Given the description of an element on the screen output the (x, y) to click on. 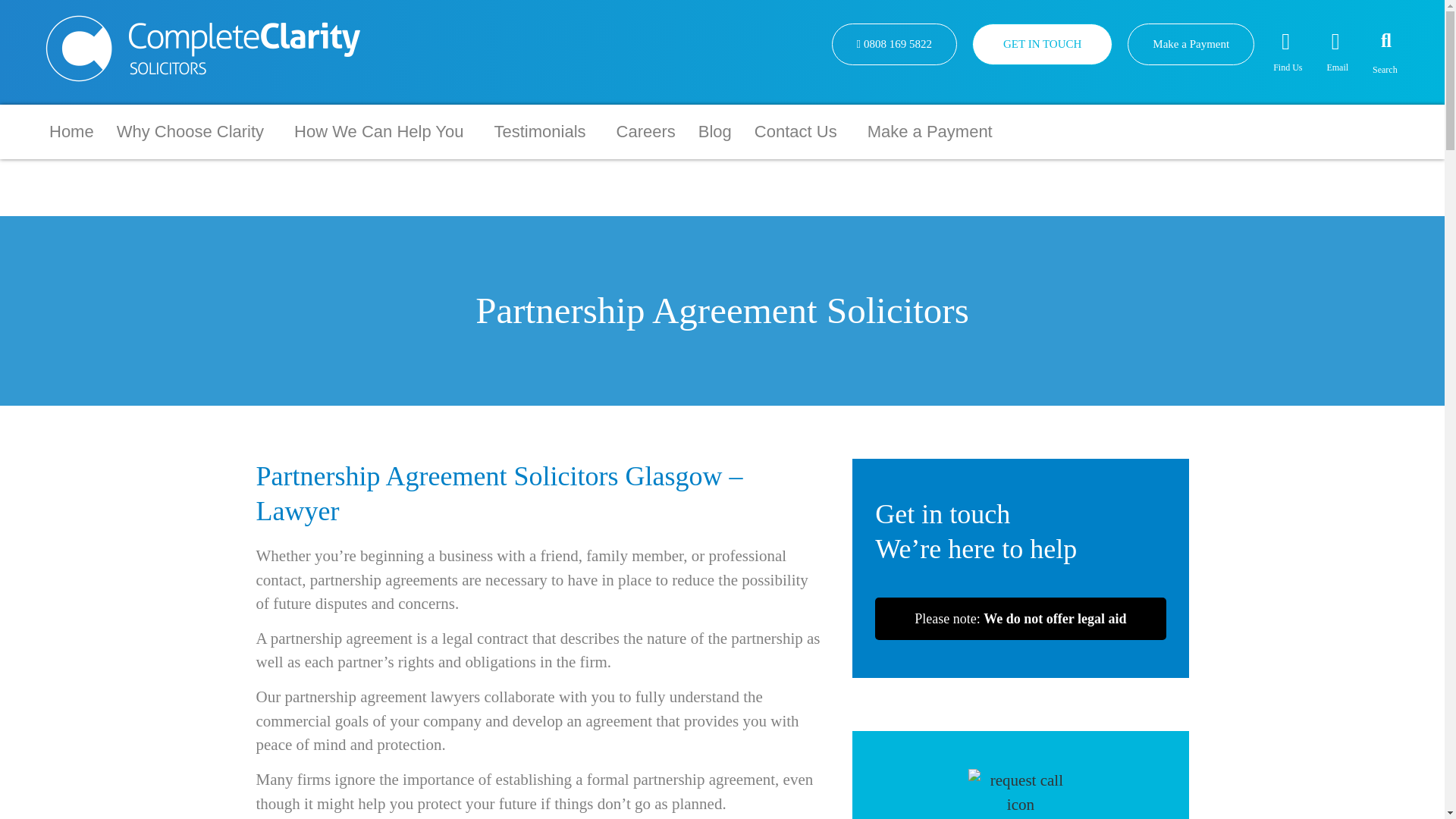
How We Can Help You (381, 131)
Home (70, 131)
Why Choose Clarity (193, 131)
Make a Payment (1189, 43)
0808 169 5822 (893, 43)
GET IN TOUCH (1042, 43)
